Given the description of an element on the screen output the (x, y) to click on. 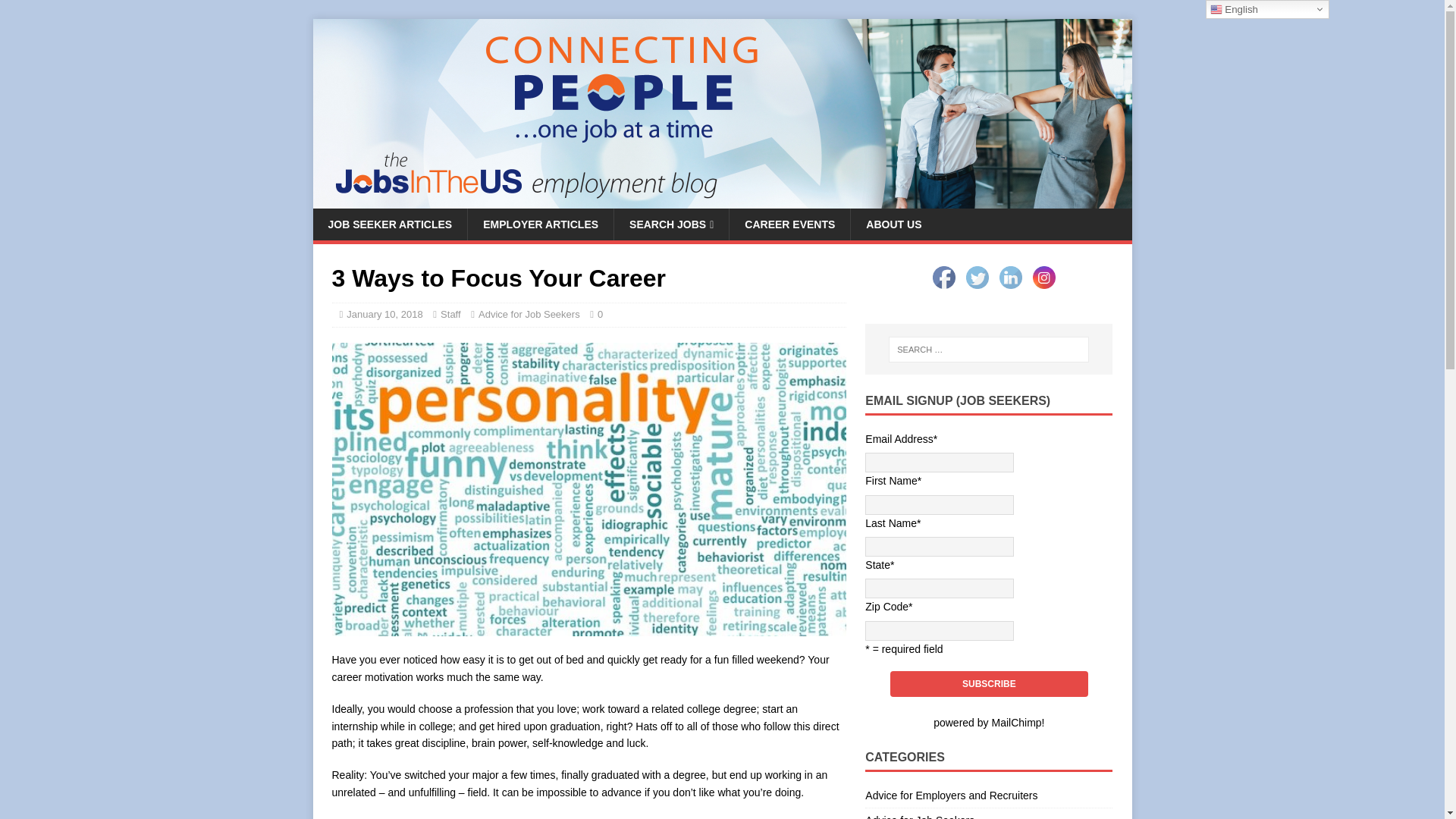
ABOUT US (893, 224)
Advice for Job Seekers (529, 314)
CAREER EVENTS (789, 224)
Advice for Employers and Recruiters (988, 797)
Facebook (944, 277)
MailChimp (1016, 722)
Search (56, 11)
Twitter (977, 277)
JobsInTheUS Employment Blog (722, 200)
